Given the description of an element on the screen output the (x, y) to click on. 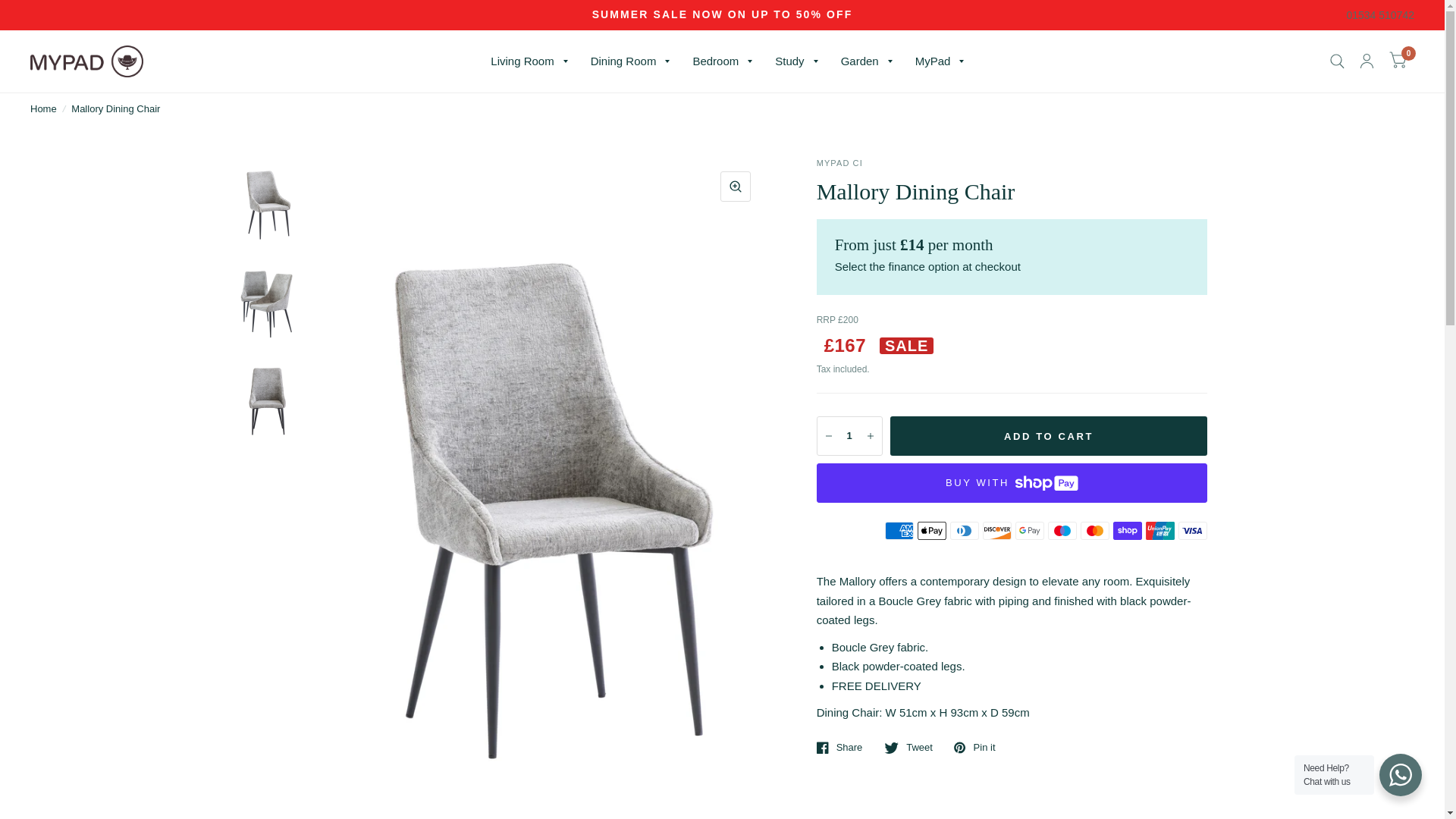
01534 510742 (1379, 15)
